Given the description of an element on the screen output the (x, y) to click on. 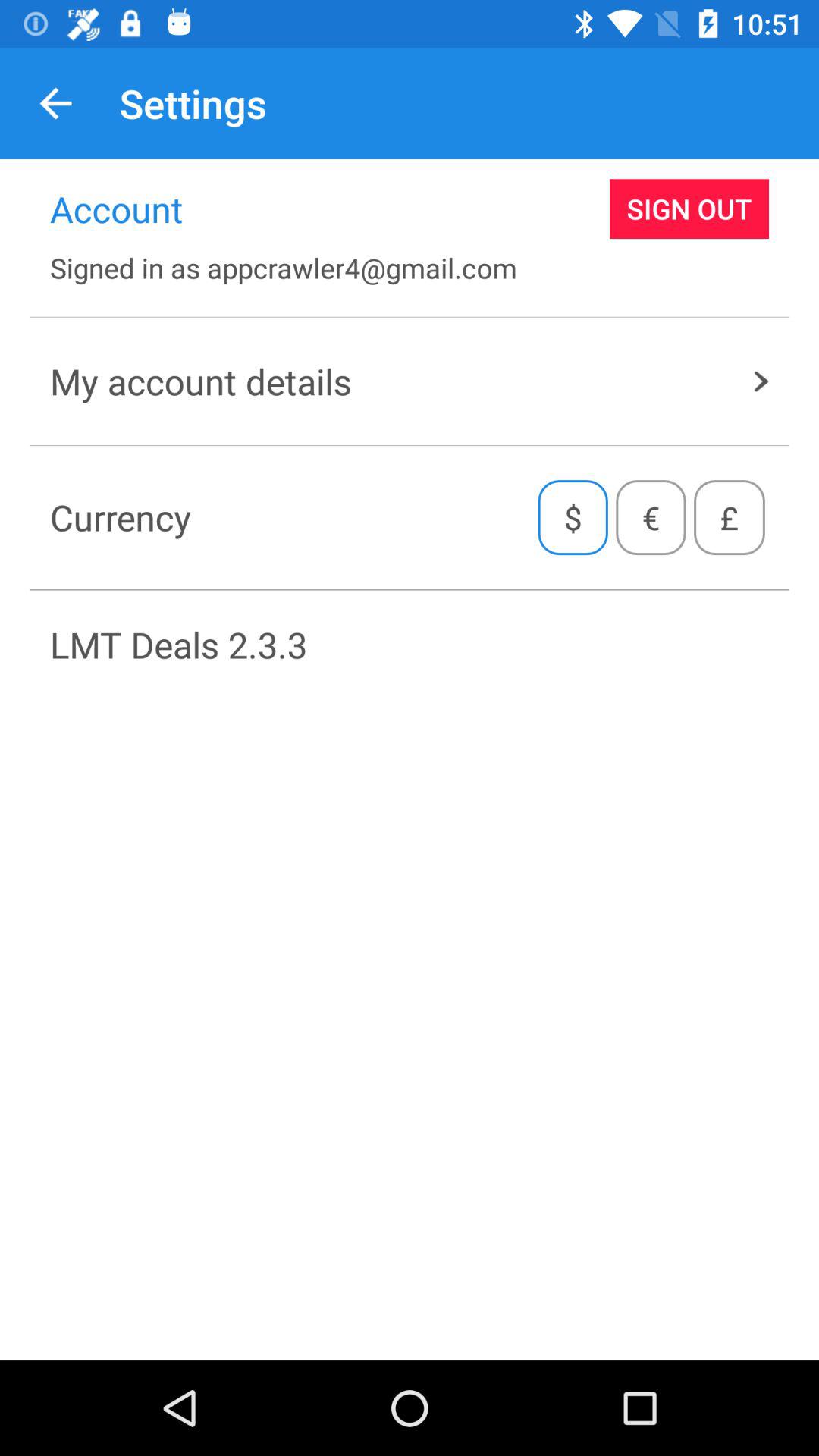
click icon above the account (55, 103)
